Given the description of an element on the screen output the (x, y) to click on. 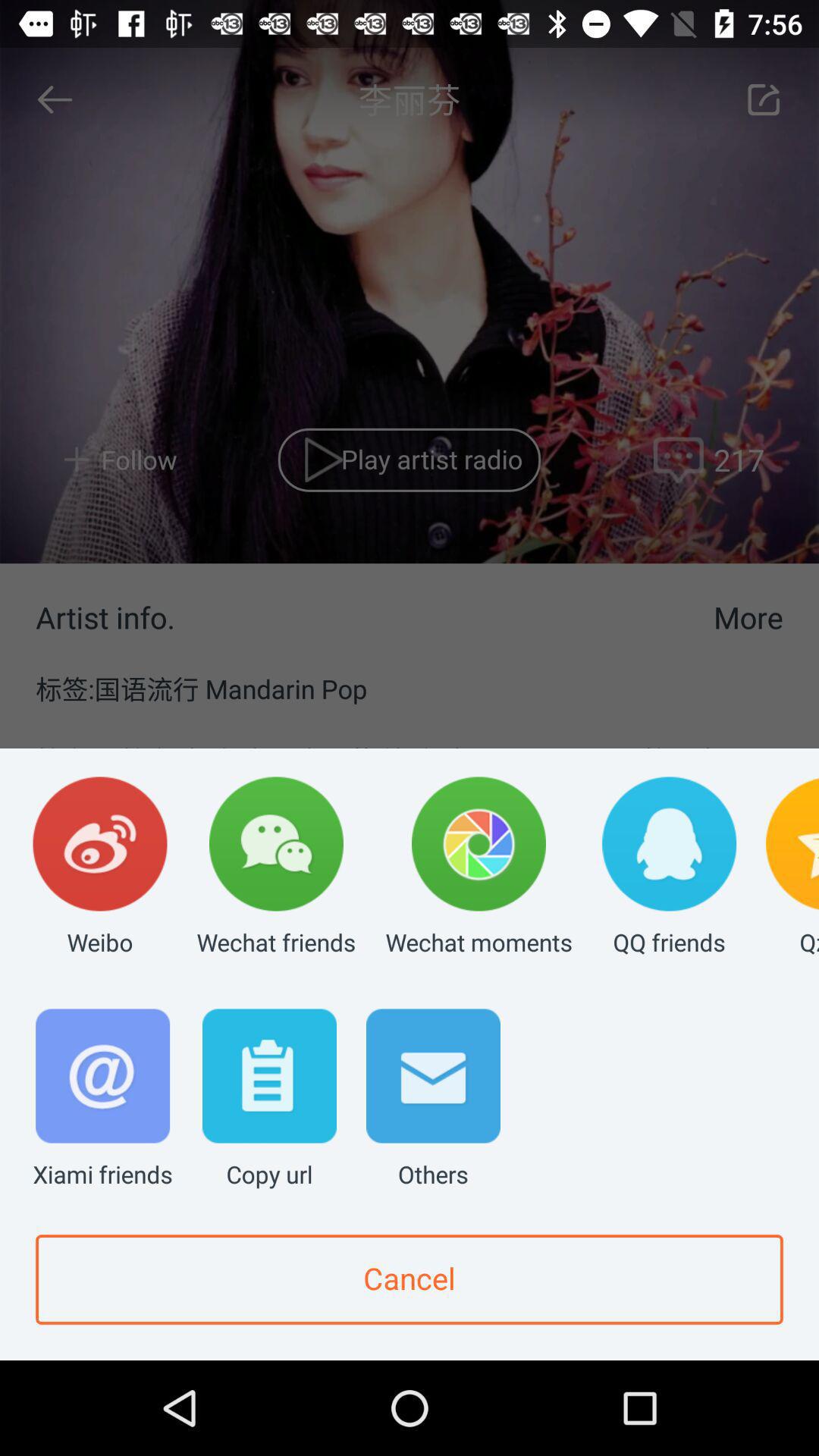
click qq friends (669, 867)
